Given the description of an element on the screen output the (x, y) to click on. 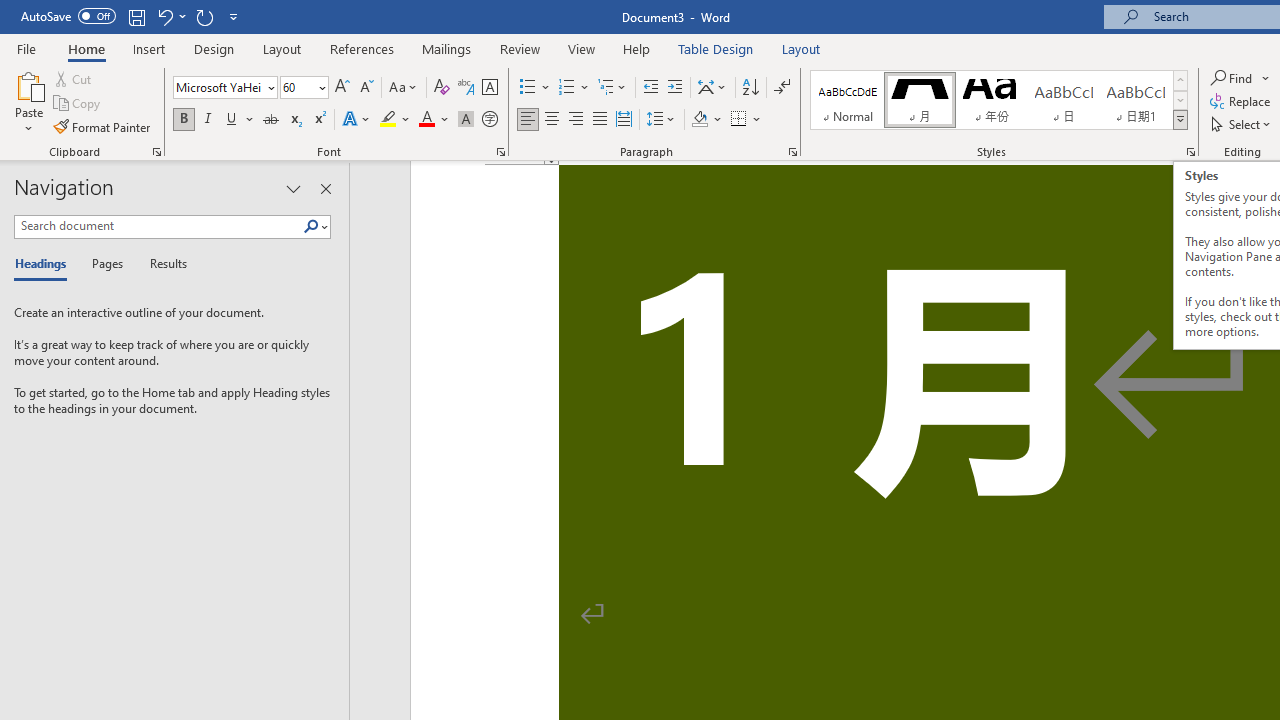
Text Effects and Typography (357, 119)
Subscript (294, 119)
Increase Indent (675, 87)
Phonetic Guide... (465, 87)
Shrink Font (365, 87)
Headings (45, 264)
Bold (183, 119)
AutomationID: QuickStylesGallery (999, 99)
Text Highlight Color Yellow (388, 119)
Help (637, 48)
Font Size (304, 87)
Decrease Indent (650, 87)
Enclose Characters... (489, 119)
